Given the description of an element on the screen output the (x, y) to click on. 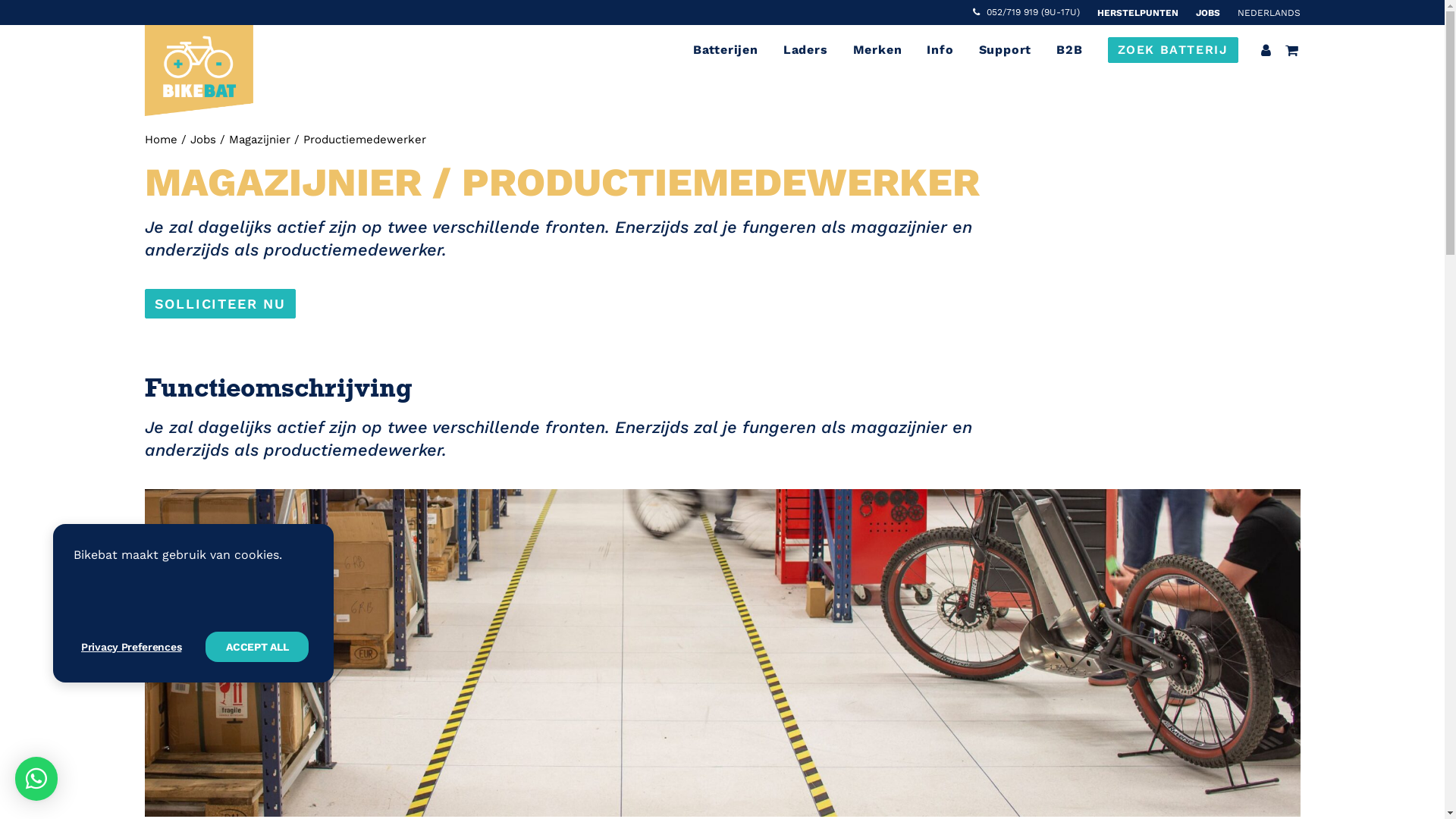
cart Element type: hover (1289, 50)
JOBS Element type: text (1207, 12)
ACCEPT ALL Element type: text (256, 646)
B2B Element type: text (1068, 50)
Laders Element type: text (805, 50)
Batterijen Element type: text (725, 50)
Privacy Preferences Element type: text (137, 646)
052/719 919 (9U-17U) Element type: text (1028, 12)
ZOEK BATTERIJ Element type: text (1167, 49)
Info Element type: text (939, 50)
HERSTELPUNTEN Element type: text (1137, 12)
Support Element type: text (1005, 50)
Merken Element type: text (877, 50)
Home Element type: text (160, 139)
NEDERLANDS Element type: text (1264, 12)
Jobs Element type: text (202, 139)
account Element type: hover (1267, 50)
SOLLICITEER NU Element type: text (219, 303)
